Given the description of an element on the screen output the (x, y) to click on. 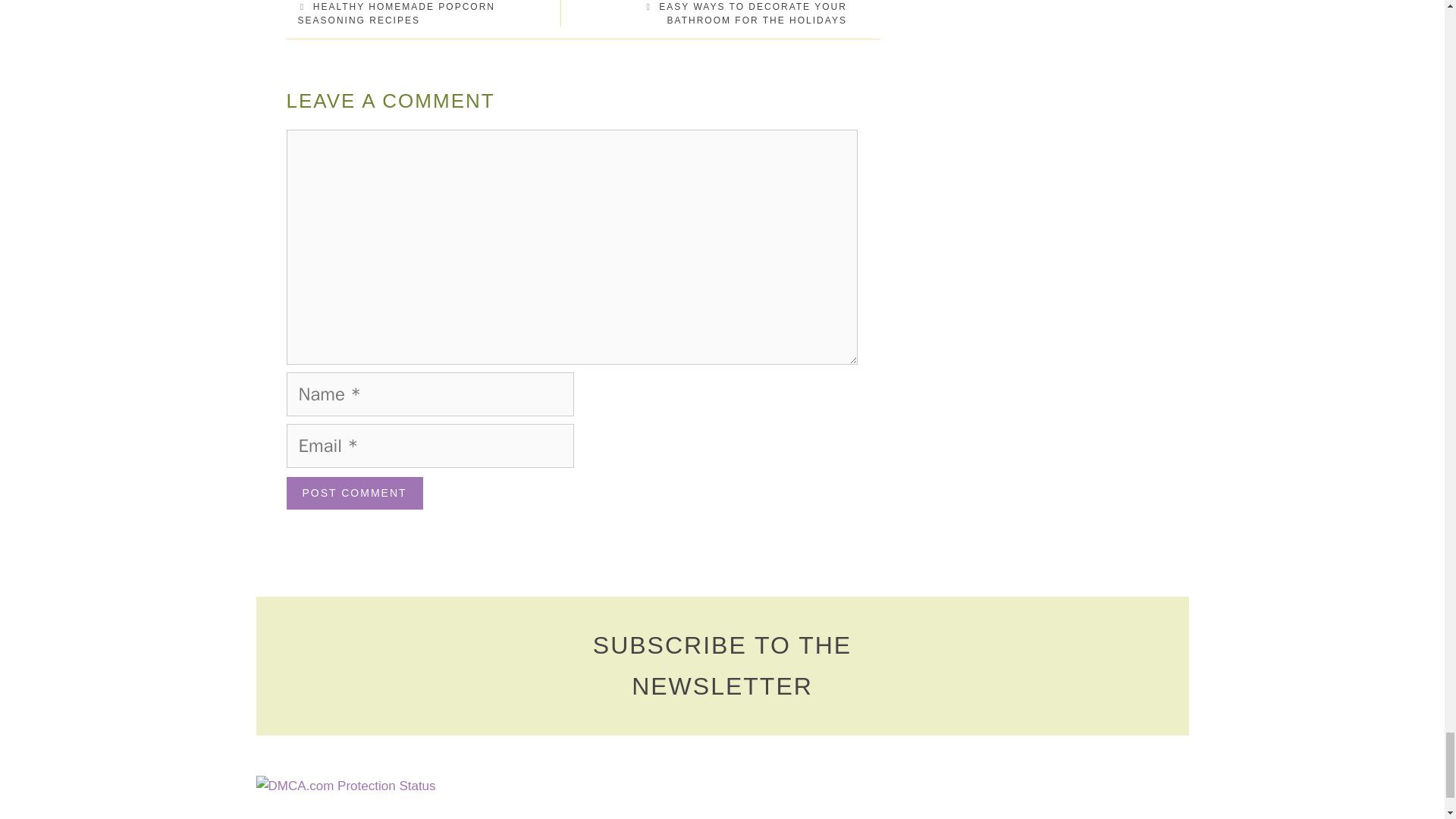
Post Comment (354, 492)
